Given the description of an element on the screen output the (x, y) to click on. 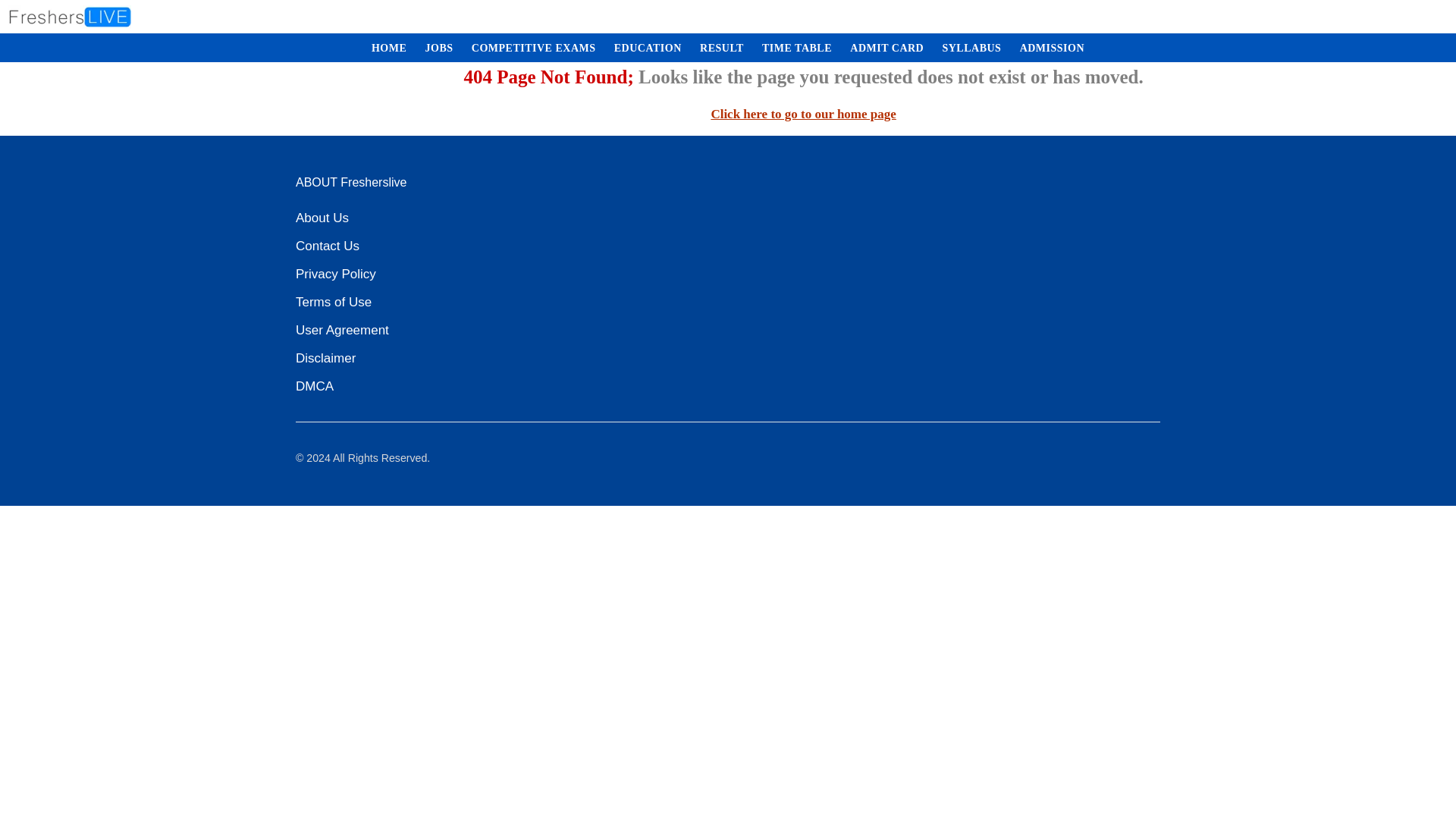
DMCA (314, 385)
Click here to go to our home page (802, 114)
Terms of Use (333, 301)
Privacy Policy (335, 273)
ADMISSION (1051, 48)
Disclaimer (325, 358)
RESULT (722, 48)
Contact Us (327, 245)
ADMIT CARD (887, 48)
User Agreement (341, 330)
JOBS (439, 48)
COMPETITIVE EXAMS (534, 48)
About Us (322, 218)
TIME TABLE (797, 48)
HOME (388, 48)
